Given the description of an element on the screen output the (x, y) to click on. 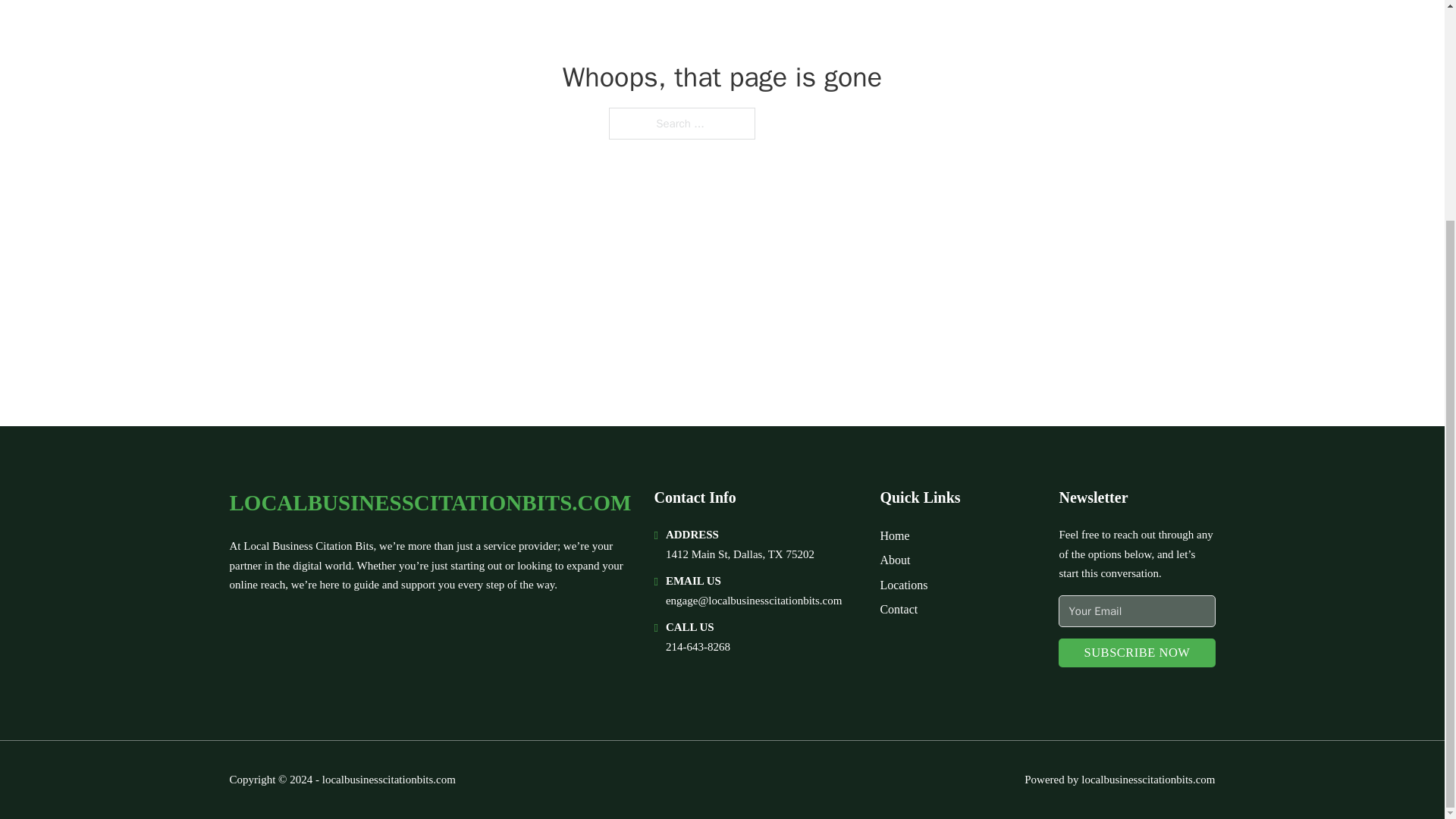
214-643-8268 (697, 646)
Locations (903, 584)
SUBSCRIBE NOW (1136, 653)
About (894, 559)
Contact (898, 608)
Home (893, 535)
LOCALBUSINESSCITATIONBITS.COM (429, 502)
